Given the description of an element on the screen output the (x, y) to click on. 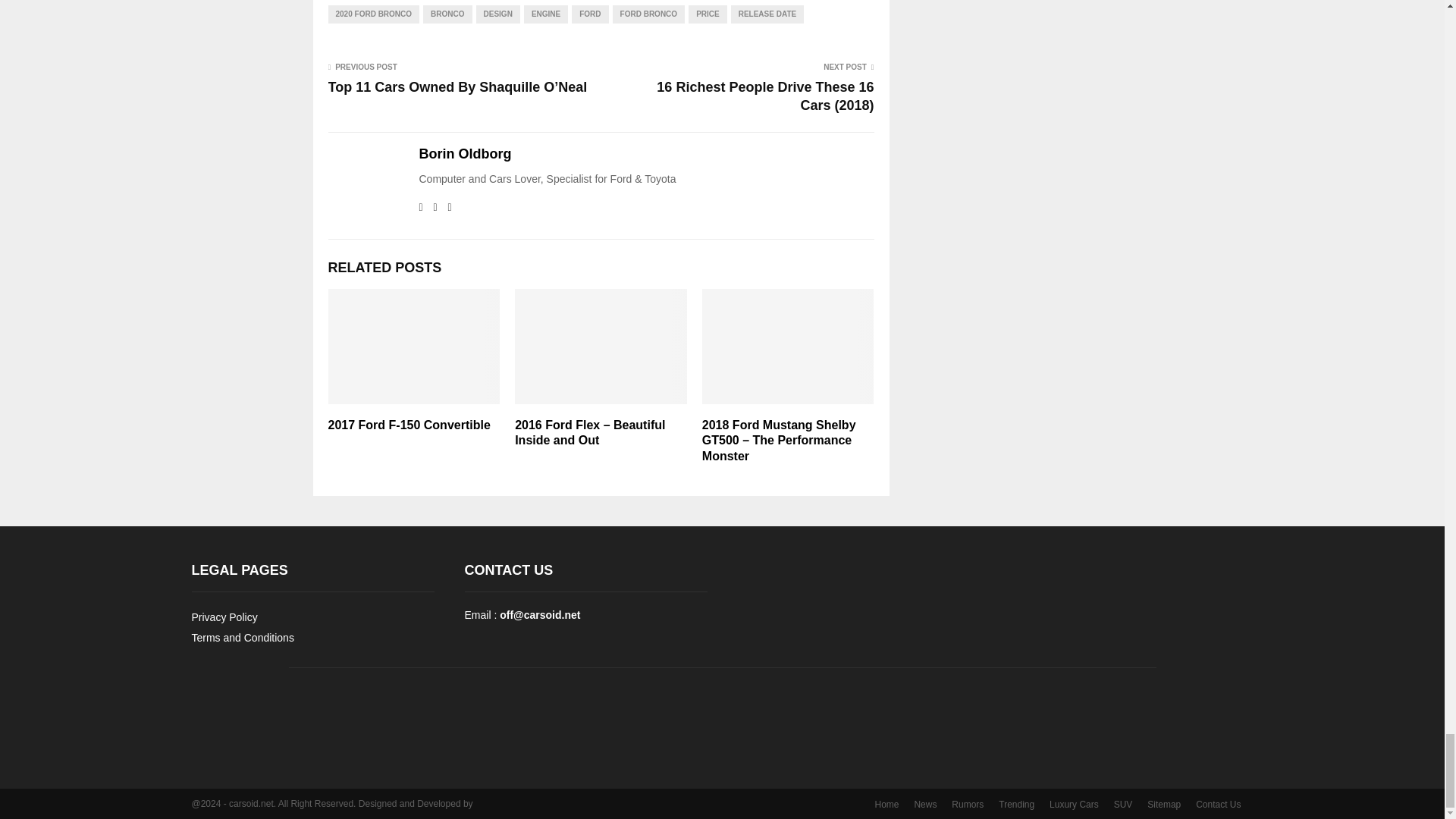
Posts by Borin Oldborg (465, 153)
